Given the description of an element on the screen output the (x, y) to click on. 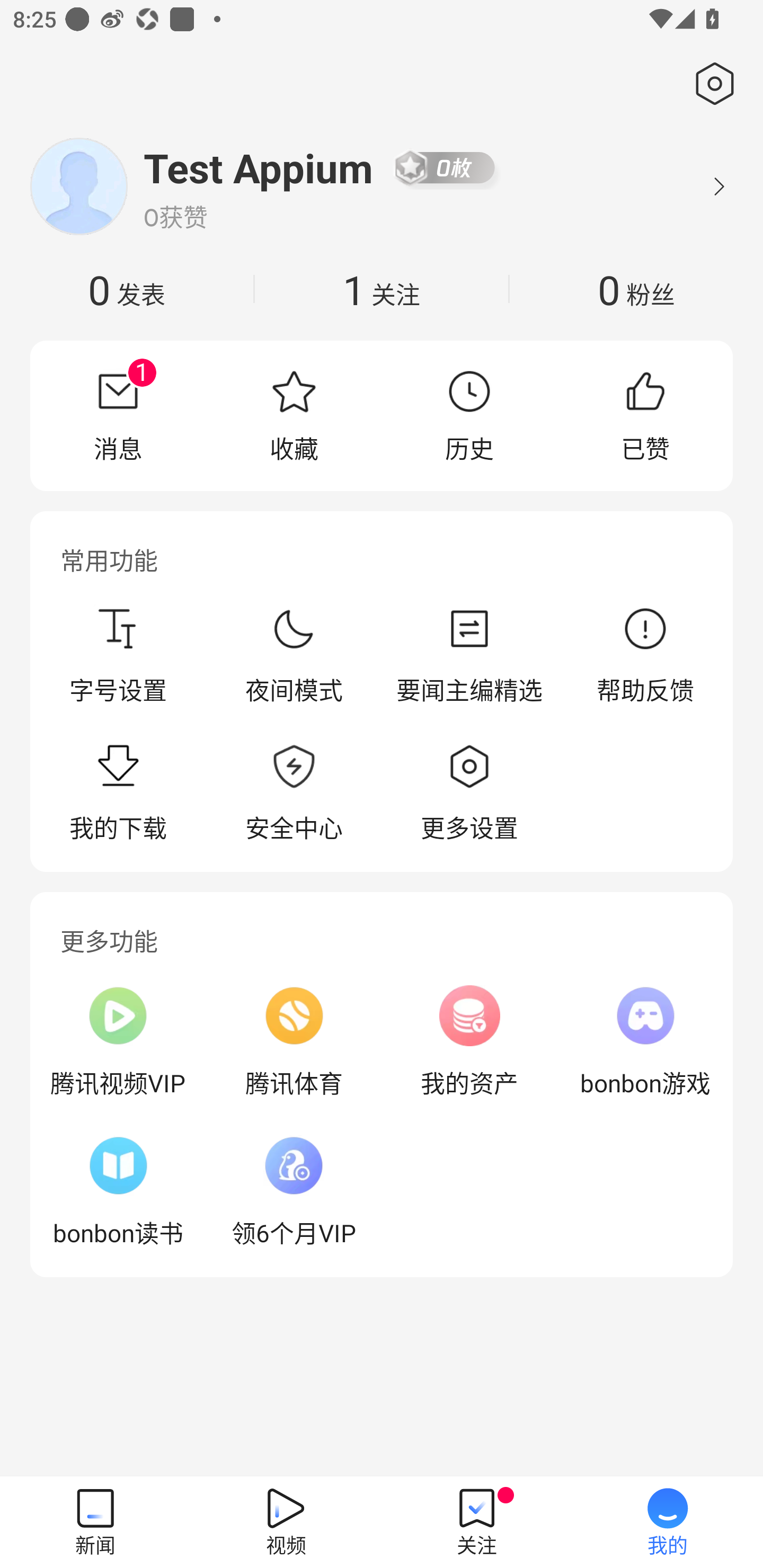
设置，可点击 (711, 83)
头像，可点击 (78, 186)
用户：Test Appium，可点击 (258, 167)
0枚勋章，可点击 (444, 167)
0发表，可点击 (126, 288)
1关注，可点击 (381, 288)
0粉丝，可点击 (636, 288)
消息，可点击 (118, 415)
收藏，可点击 (293, 415)
历史，可点击 (469, 415)
已赞，可点击 (644, 415)
字号设置，可点击 (118, 655)
夜间模式，可点击 (293, 655)
要闻主编精选，可点击 (469, 655)
帮助反馈，可点击 (644, 655)
我的下载，可点击 (118, 793)
安全中心，可点击 (293, 793)
更多设置，可点击 (469, 793)
腾讯视频VIP，可点击 (118, 1041)
腾讯体育，可点击 (293, 1041)
我的资产，可点击 (469, 1041)
bonbon游戏，可点击 (644, 1041)
bonbon读书，可点击 (118, 1191)
领6个月VIP，可点击 (293, 1191)
